Given the description of an element on the screen output the (x, y) to click on. 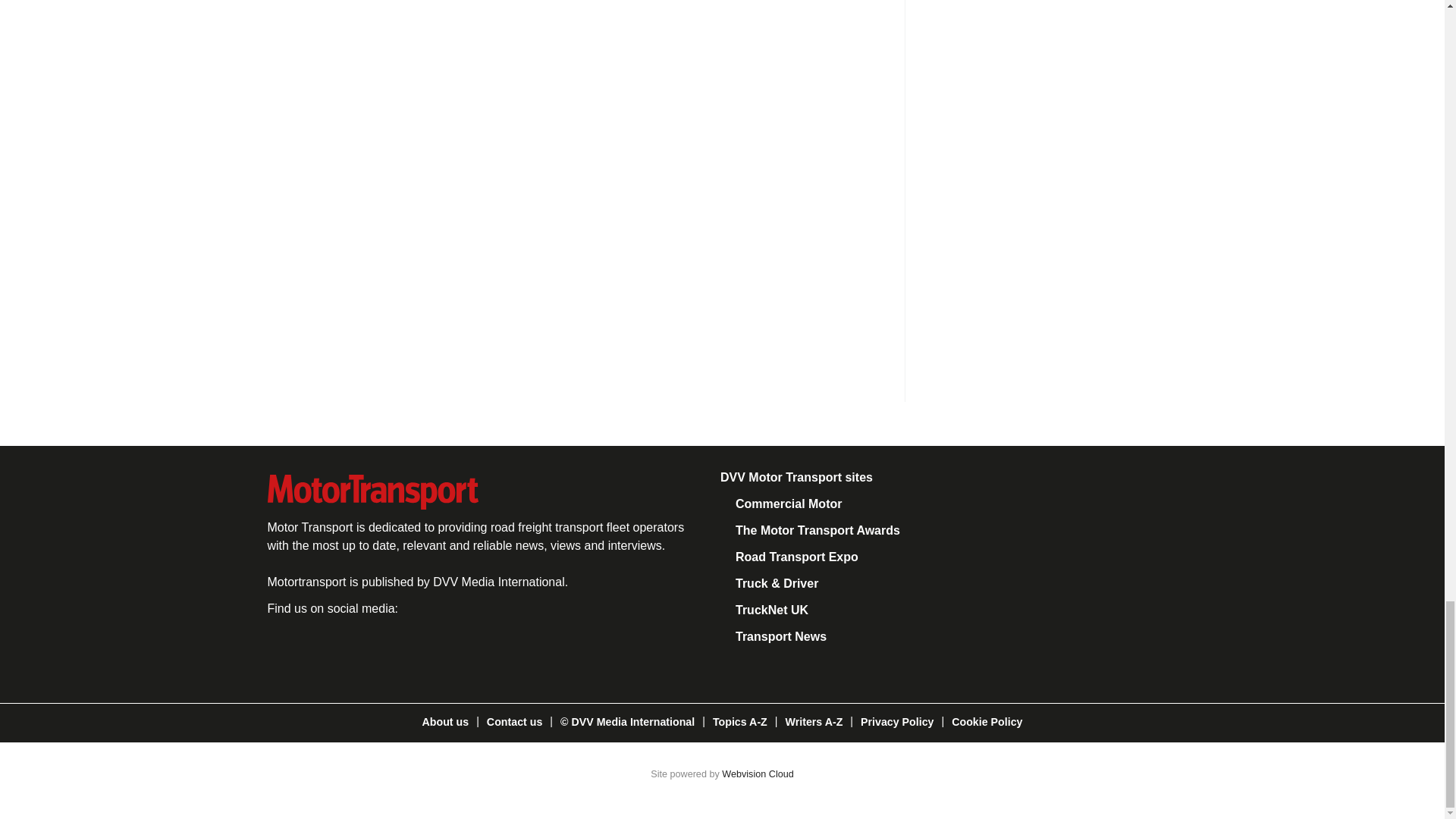
Email us (438, 647)
Connect with us on Linked in (387, 647)
Connect with us on Facebook (284, 647)
Connect with us on Twitter (336, 647)
